Given the description of an element on the screen output the (x, y) to click on. 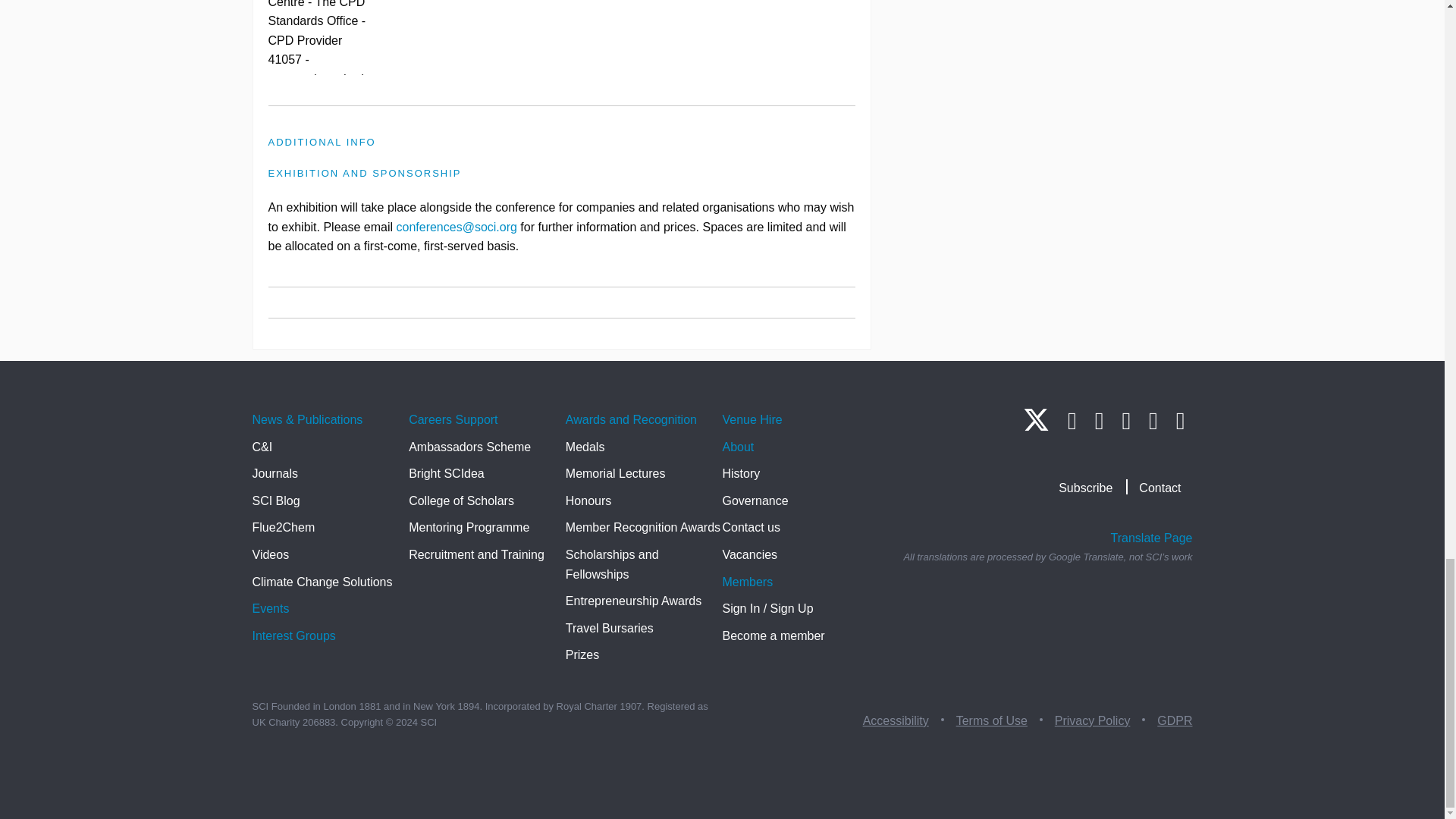
Instagram (1098, 420)
Twitter (1036, 426)
LinkedIn (1072, 420)
